Given the description of an element on the screen output the (x, y) to click on. 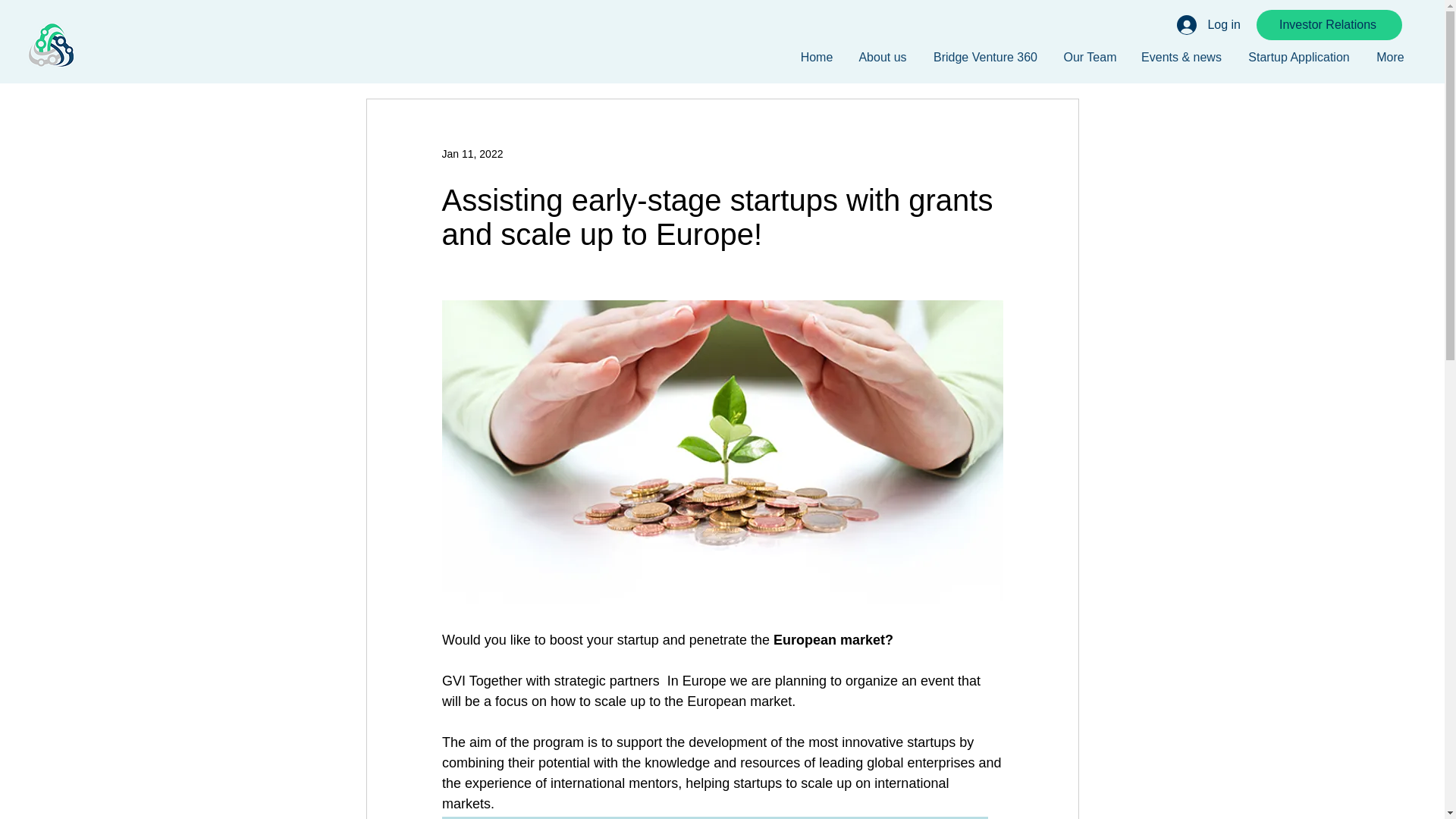
Bridge Venture 360 (985, 56)
Startup Application (1298, 56)
GOLD VENTURES INVESTMENT (50, 45)
Investor Relations (1329, 24)
Home (816, 56)
About us (882, 56)
Our Team (1090, 56)
Log in (1208, 24)
Jan 11, 2022 (471, 152)
